Given the description of an element on the screen output the (x, y) to click on. 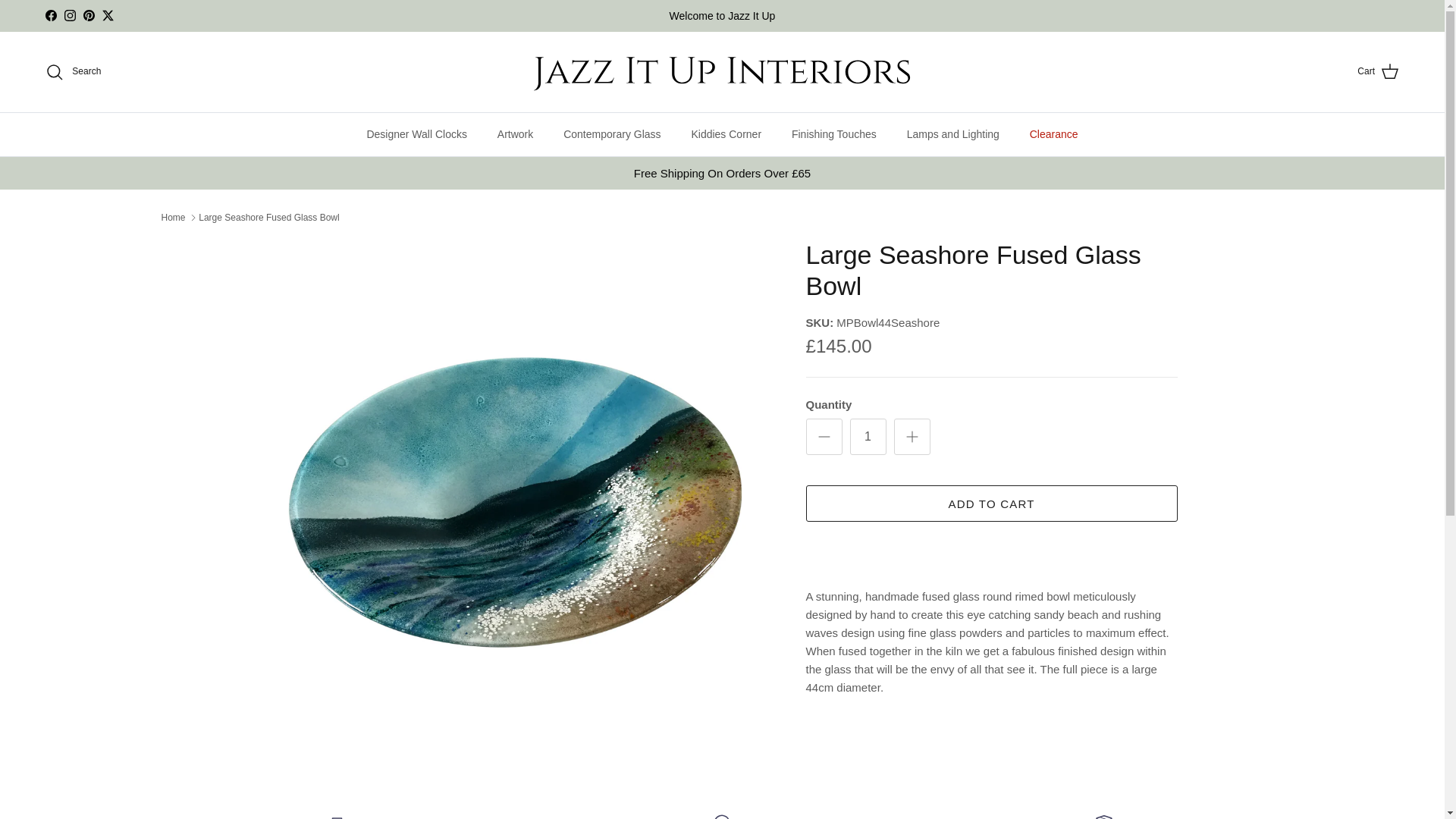
Search (72, 72)
Jazz It Up Interiors on Facebook (50, 15)
Jazz It Up Interiors (721, 71)
Jazz It Up Interiors on Pinterest (88, 15)
Contemporary Glass (612, 134)
Instagram (69, 15)
1 (866, 436)
Twitter (107, 15)
Cart (1377, 71)
Facebook (50, 15)
